Given the description of an element on the screen output the (x, y) to click on. 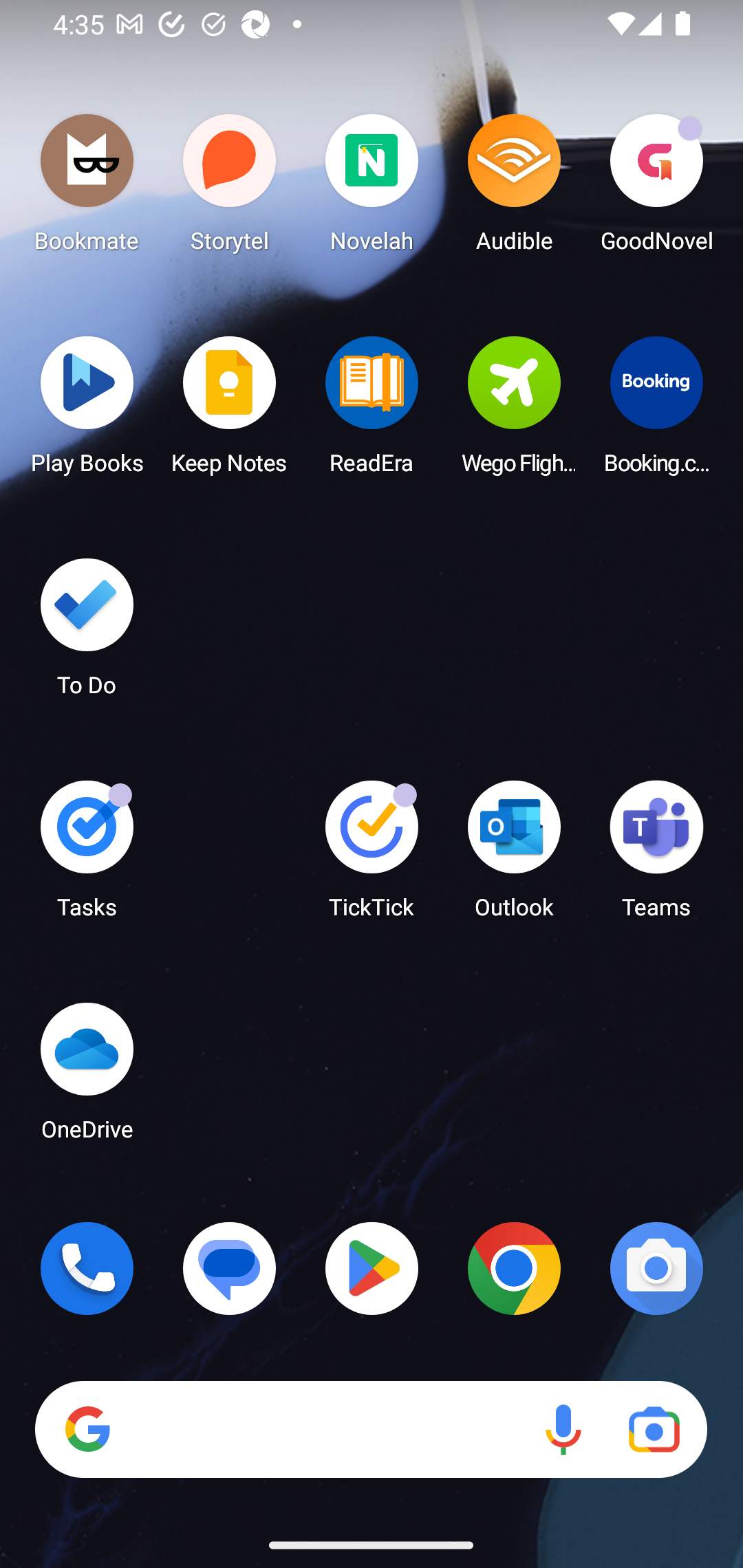
Bookmate (86, 188)
Storytel (229, 188)
Novelah (371, 188)
Audible (513, 188)
GoodNovel GoodNovel has 1 notification (656, 188)
Play Books (86, 410)
Keep Notes (229, 410)
ReadEra (371, 410)
Wego Flights & Hotels (513, 410)
Booking.com (656, 410)
To Do (86, 633)
Tasks Tasks has 1 notification (86, 854)
TickTick TickTick has 3 notifications (371, 854)
Outlook (513, 854)
Teams (656, 854)
OneDrive (86, 1076)
Phone (86, 1268)
Messages (229, 1268)
Play Store (371, 1268)
Chrome (513, 1268)
Camera (656, 1268)
Search Voice search Google Lens (370, 1429)
Voice search (562, 1429)
Google Lens (653, 1429)
